Given the description of an element on the screen output the (x, y) to click on. 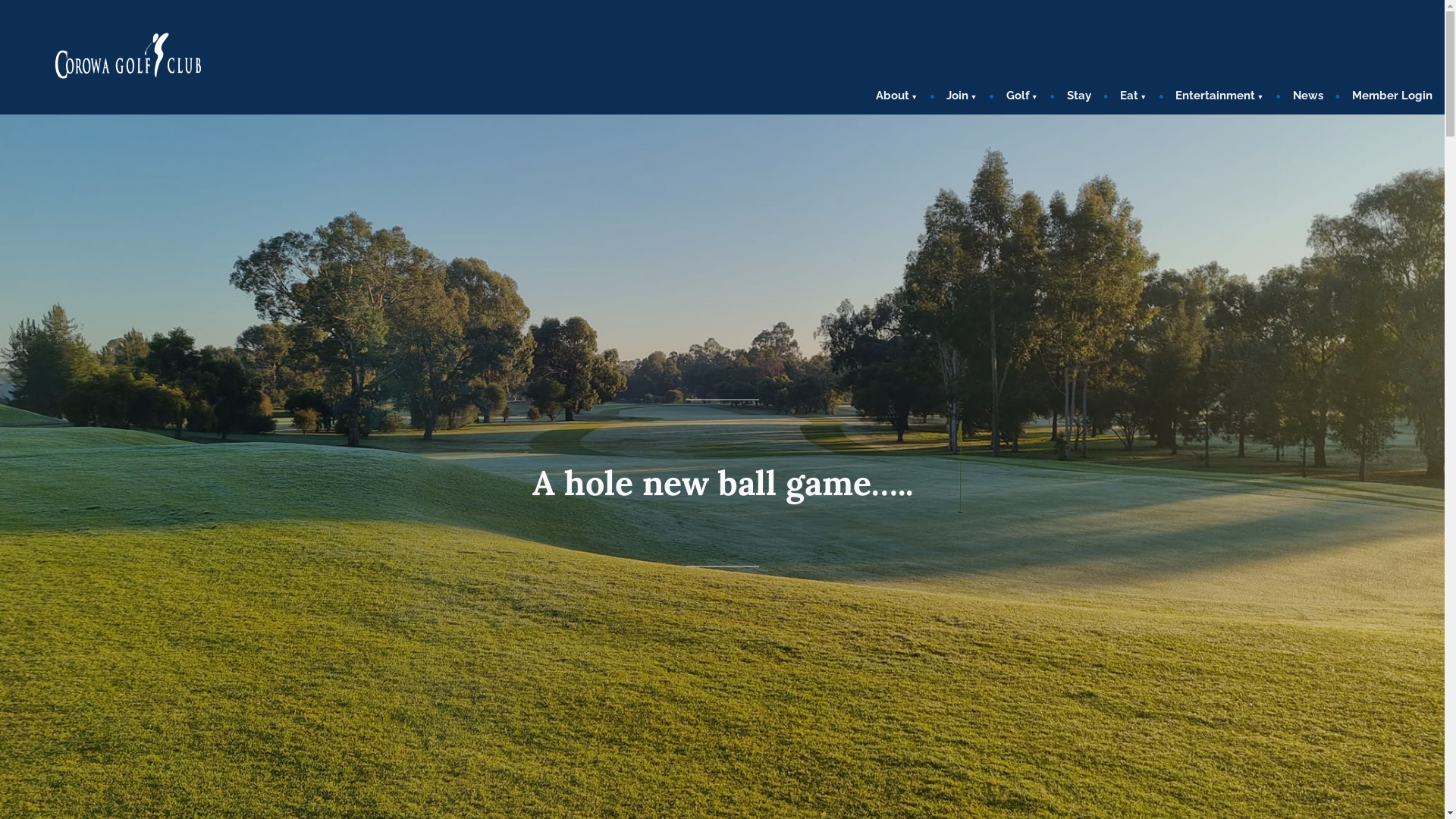
Corowa Golf Club Element type: text (60, 113)
Golf Element type: text (1022, 96)
Entertainment Element type: text (1219, 96)
About Element type: text (902, 96)
Member Login Element type: text (1385, 96)
Eat Element type: text (1132, 96)
News Element type: text (1307, 96)
Join Element type: text (961, 96)
Stay Element type: text (1078, 96)
